Given the description of an element on the screen output the (x, y) to click on. 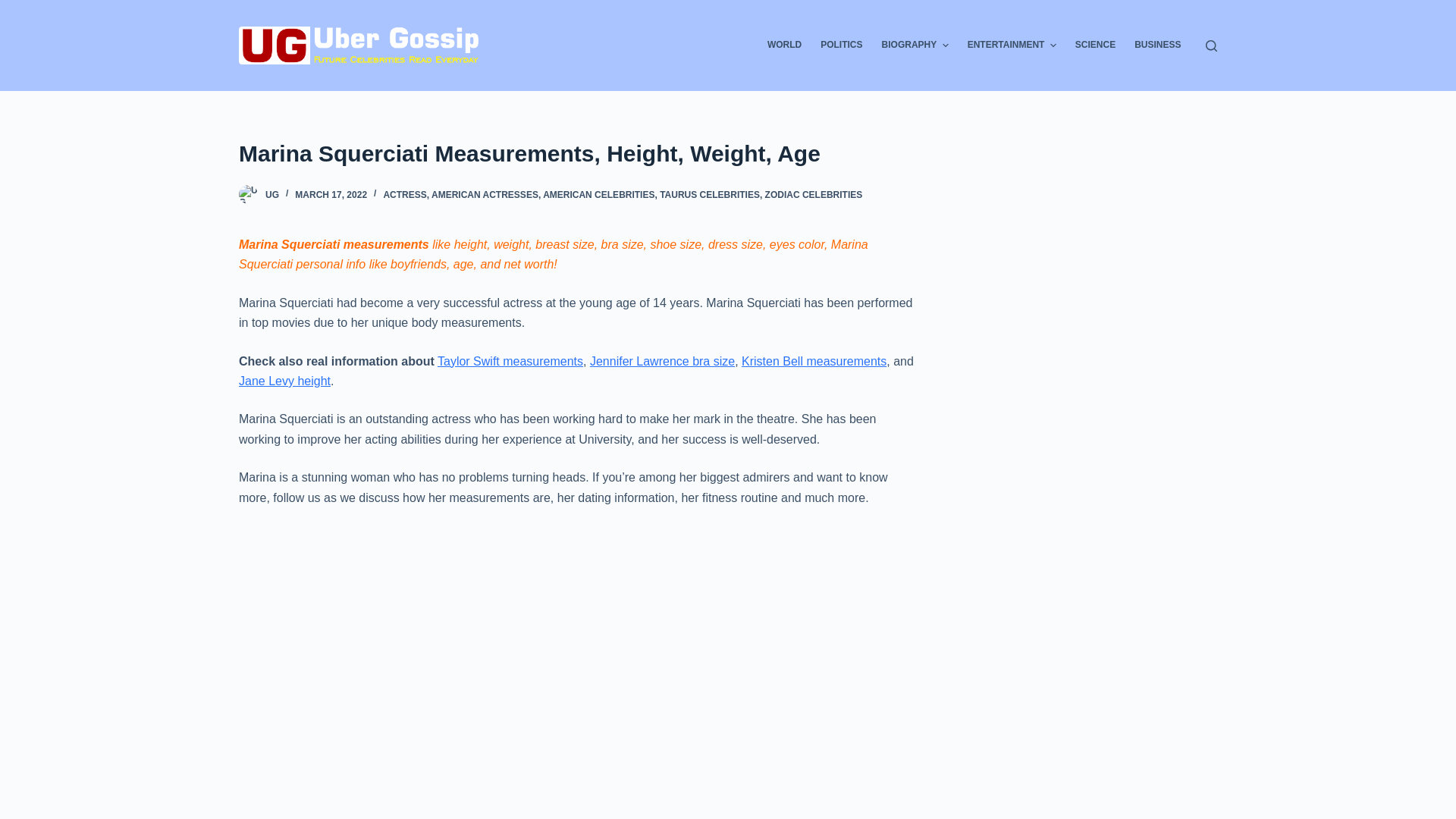
BIOGRAPHY (915, 45)
Marina Squerciati Measurements, Height, Weight, Age (576, 153)
Posts by UG (271, 194)
Skip to content (15, 7)
